Given the description of an element on the screen output the (x, y) to click on. 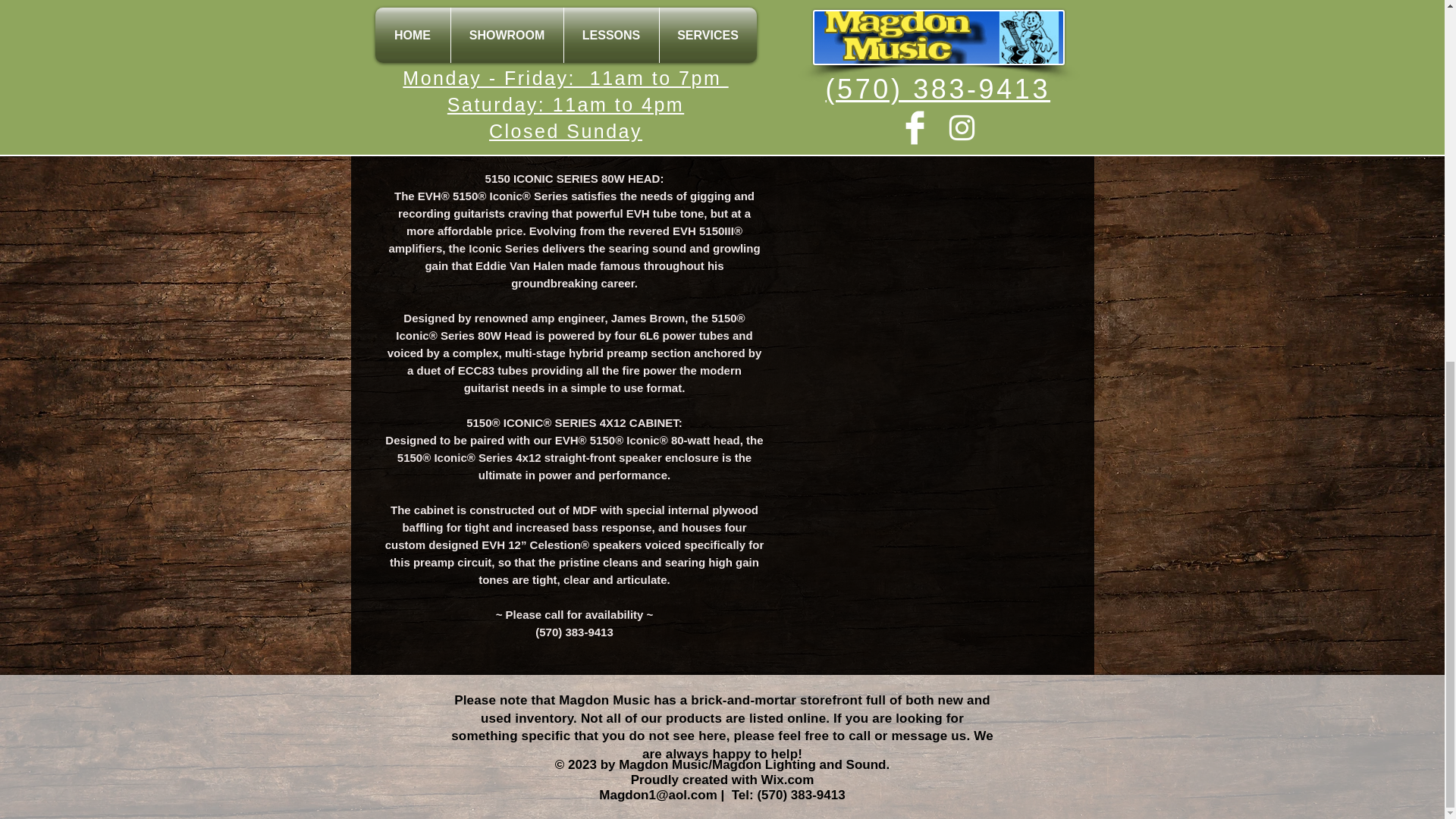
Magdon1 (627, 794)
Wix.com (787, 780)
